Given the description of an element on the screen output the (x, y) to click on. 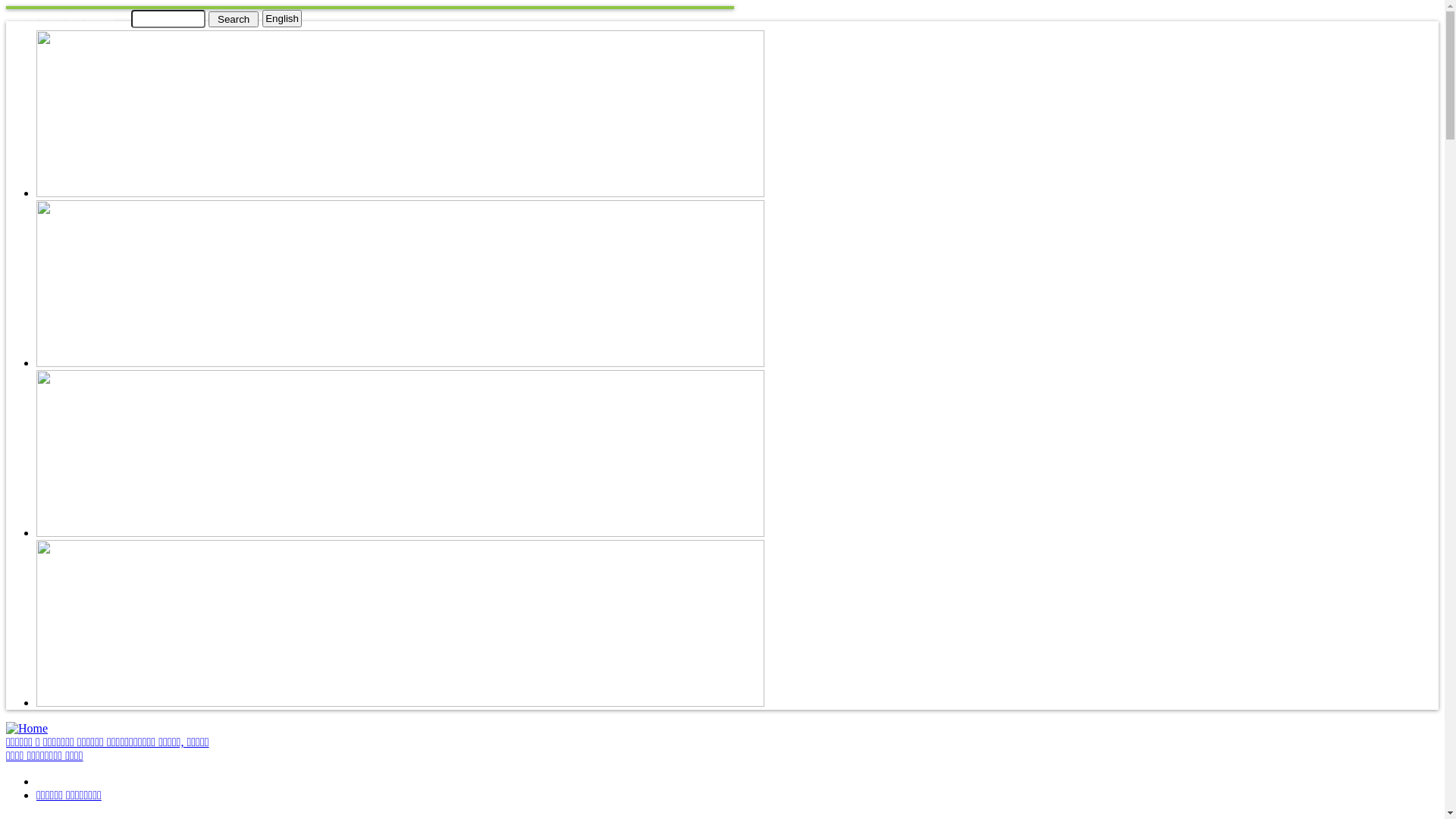
English Element type: text (281, 18)
Home Element type: hover (26, 727)
Search Element type: text (233, 18)
